Given the description of an element on the screen output the (x, y) to click on. 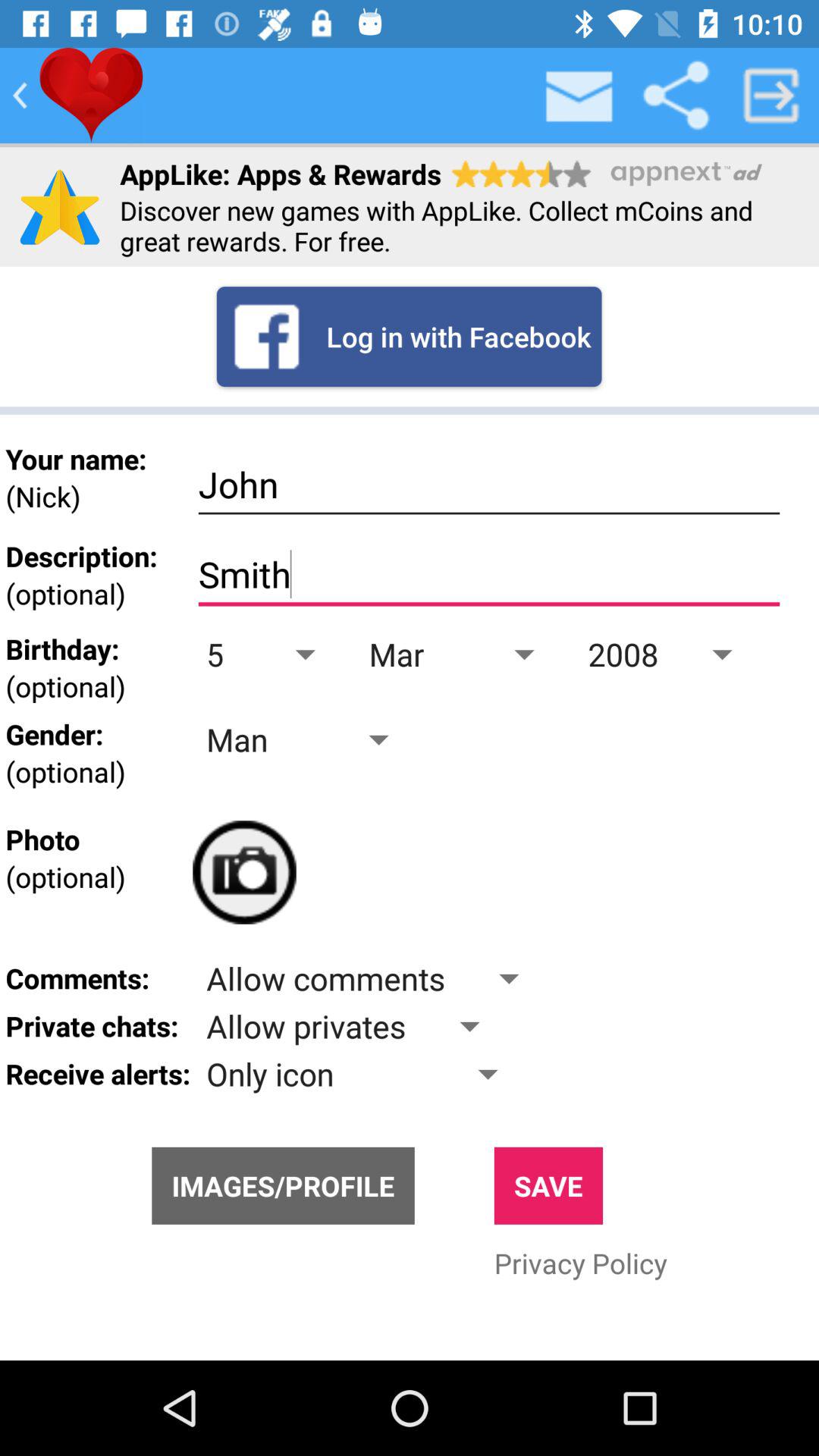
go to previous (19, 95)
